Given the description of an element on the screen output the (x, y) to click on. 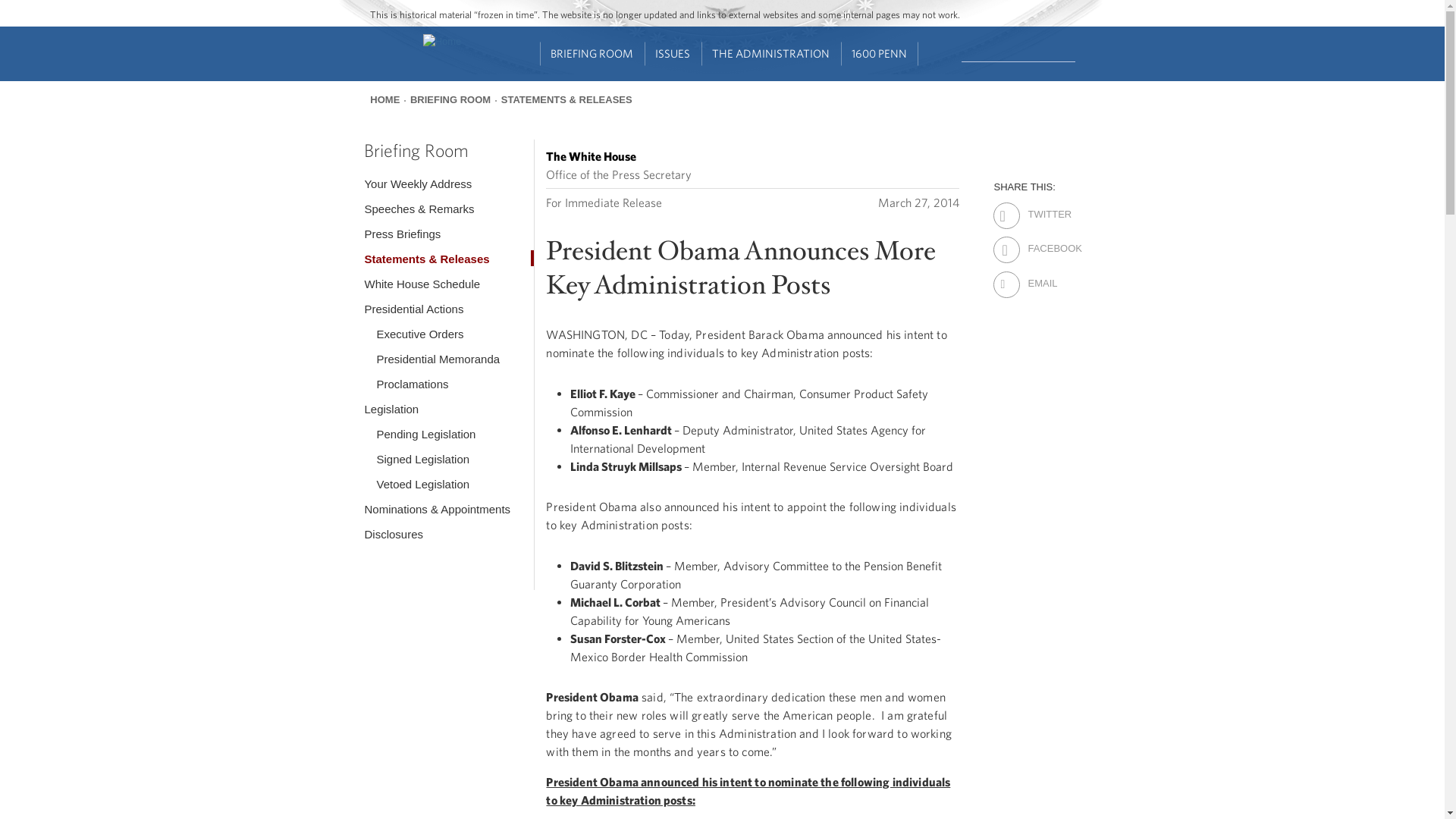
Twitter (1040, 204)
BRIEFING ROOM (592, 53)
Enter the terms you wish to search for. (1017, 52)
Search (1076, 51)
Email (1040, 273)
ISSUES (673, 53)
Home (442, 41)
Facebook (1040, 238)
